Given the description of an element on the screen output the (x, y) to click on. 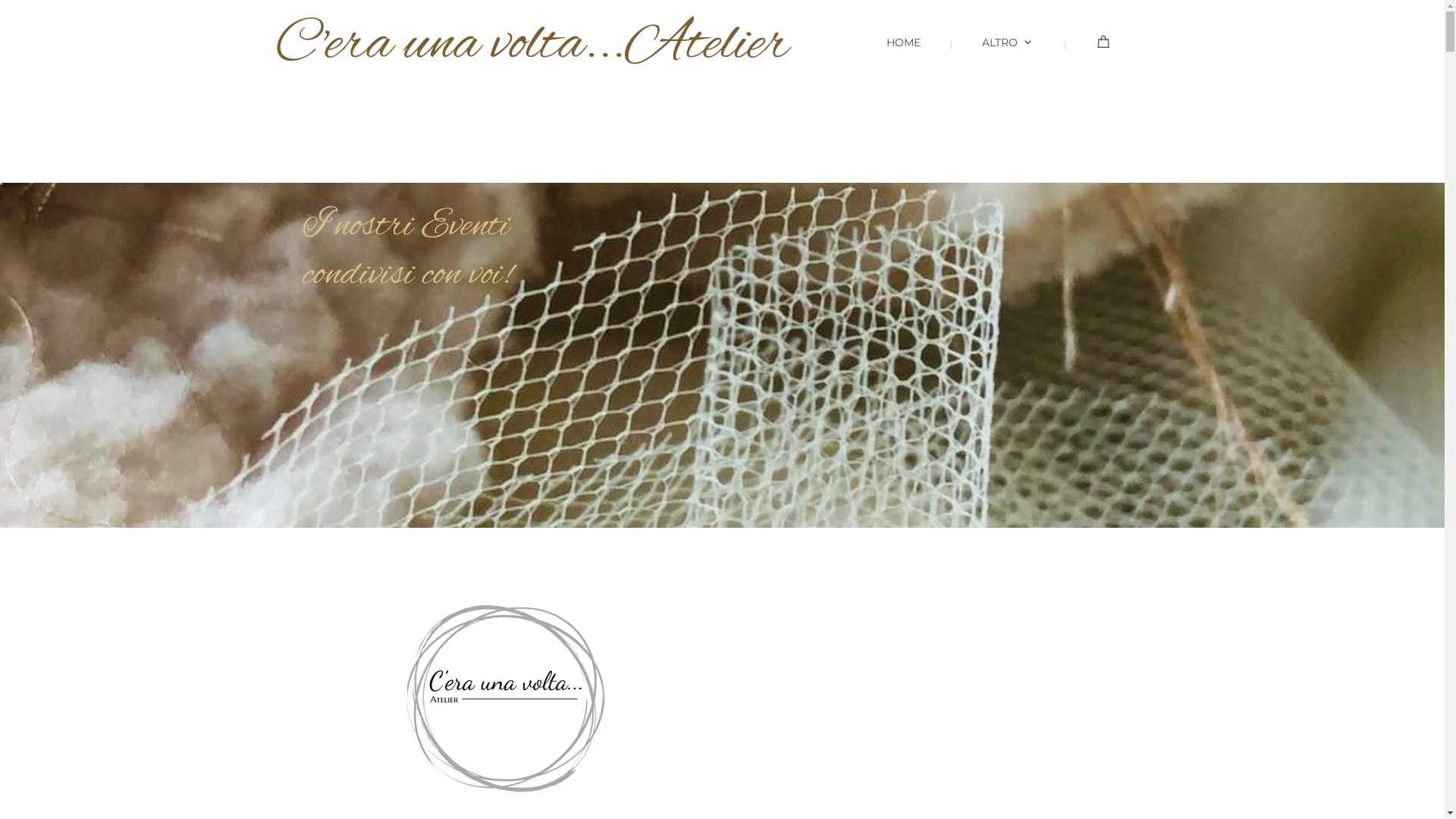
ALTRO Element type: text (996, 54)
HOME Element type: text (892, 54)
